Given the description of an element on the screen output the (x, y) to click on. 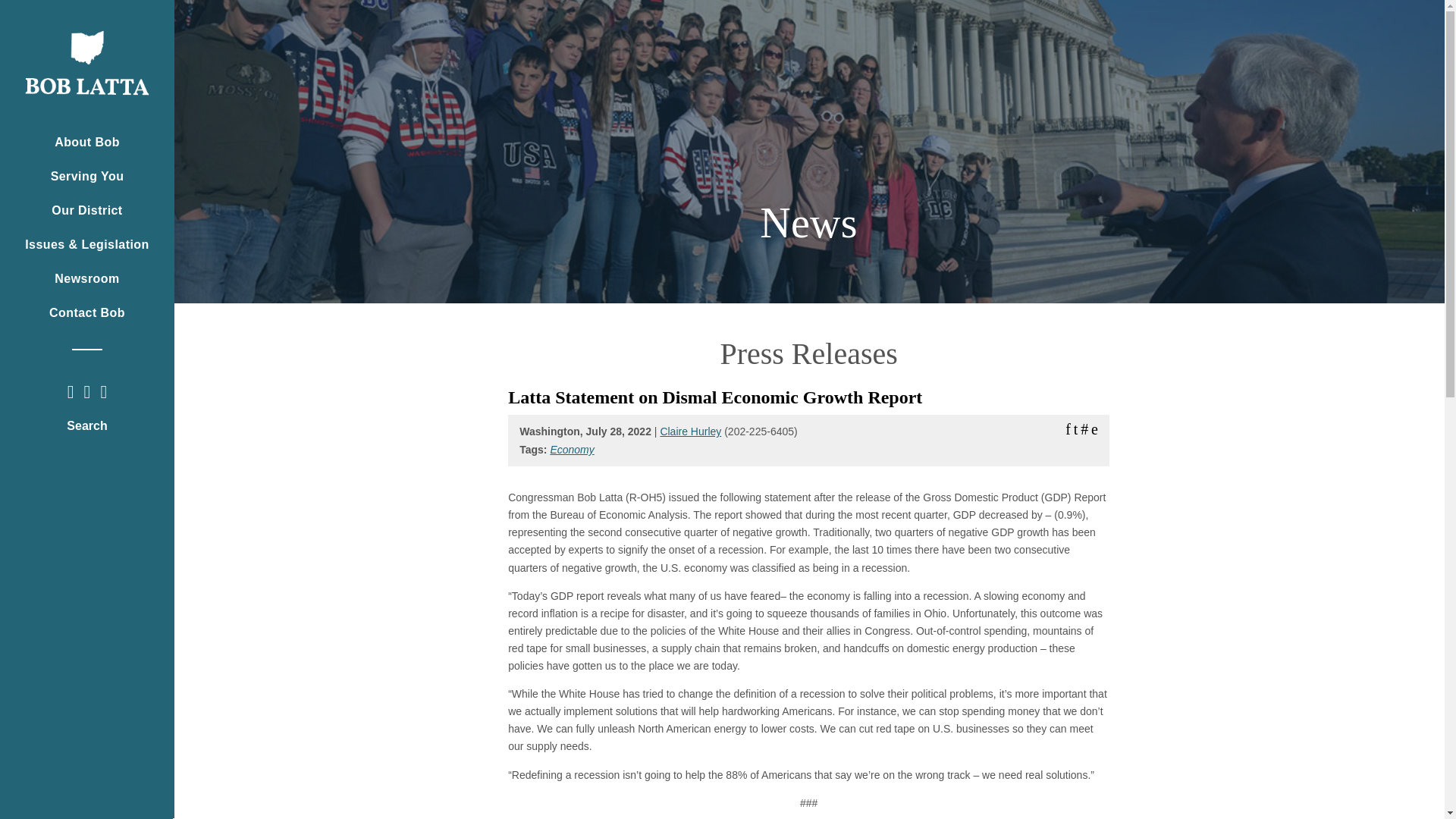
About Bob (87, 142)
Our District (87, 210)
Search (86, 426)
Contact Bob (87, 313)
Serving You (87, 176)
Newsroom (87, 278)
